Given the description of an element on the screen output the (x, y) to click on. 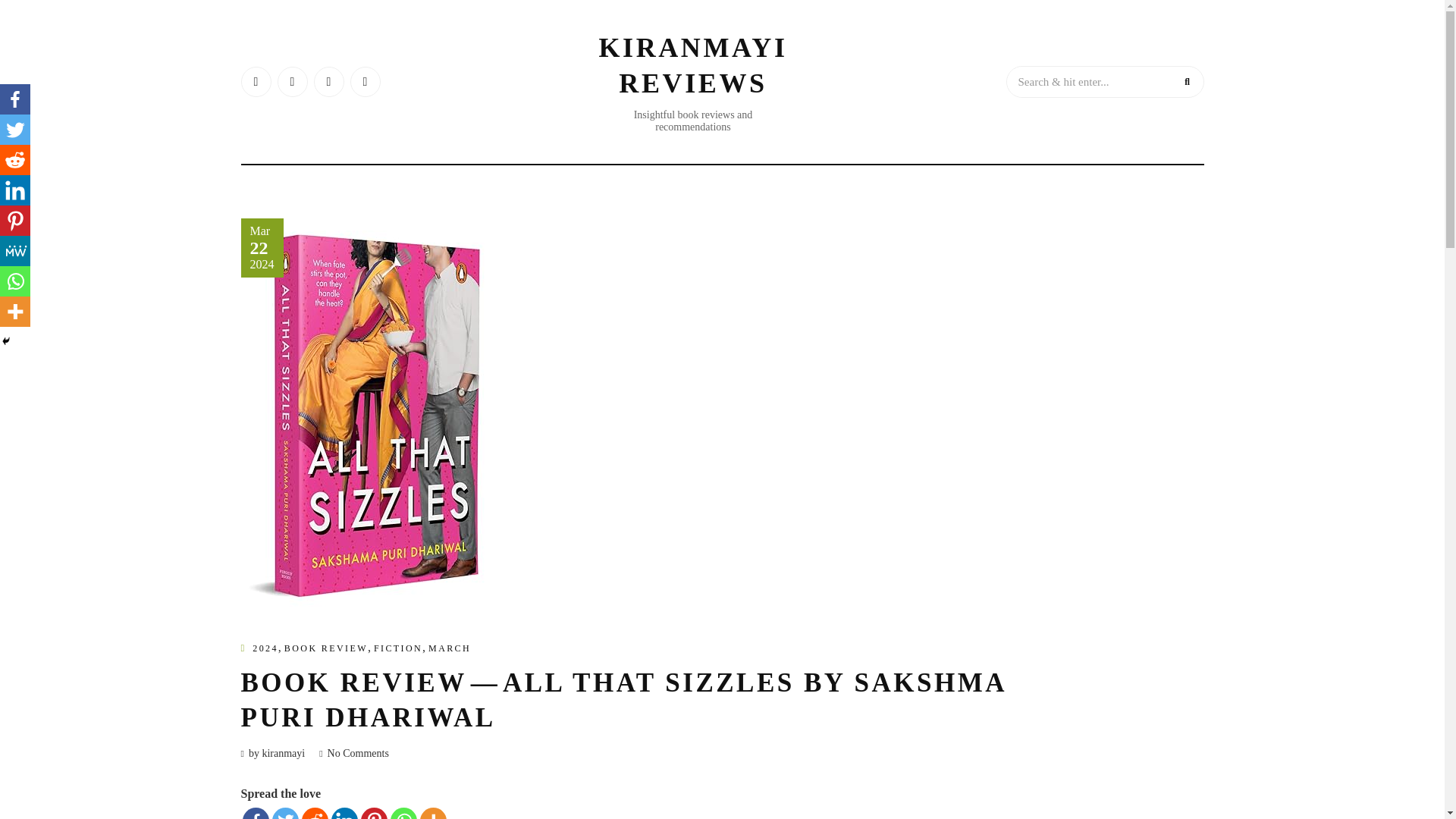
Facebook (15, 99)
Hide (5, 340)
2024 (264, 647)
Facebook (256, 813)
Pinterest (15, 220)
Linkedin (343, 813)
BOOK REVIEW (325, 647)
MARCH (449, 647)
Linkedin (15, 190)
More (433, 813)
